Given the description of an element on the screen output the (x, y) to click on. 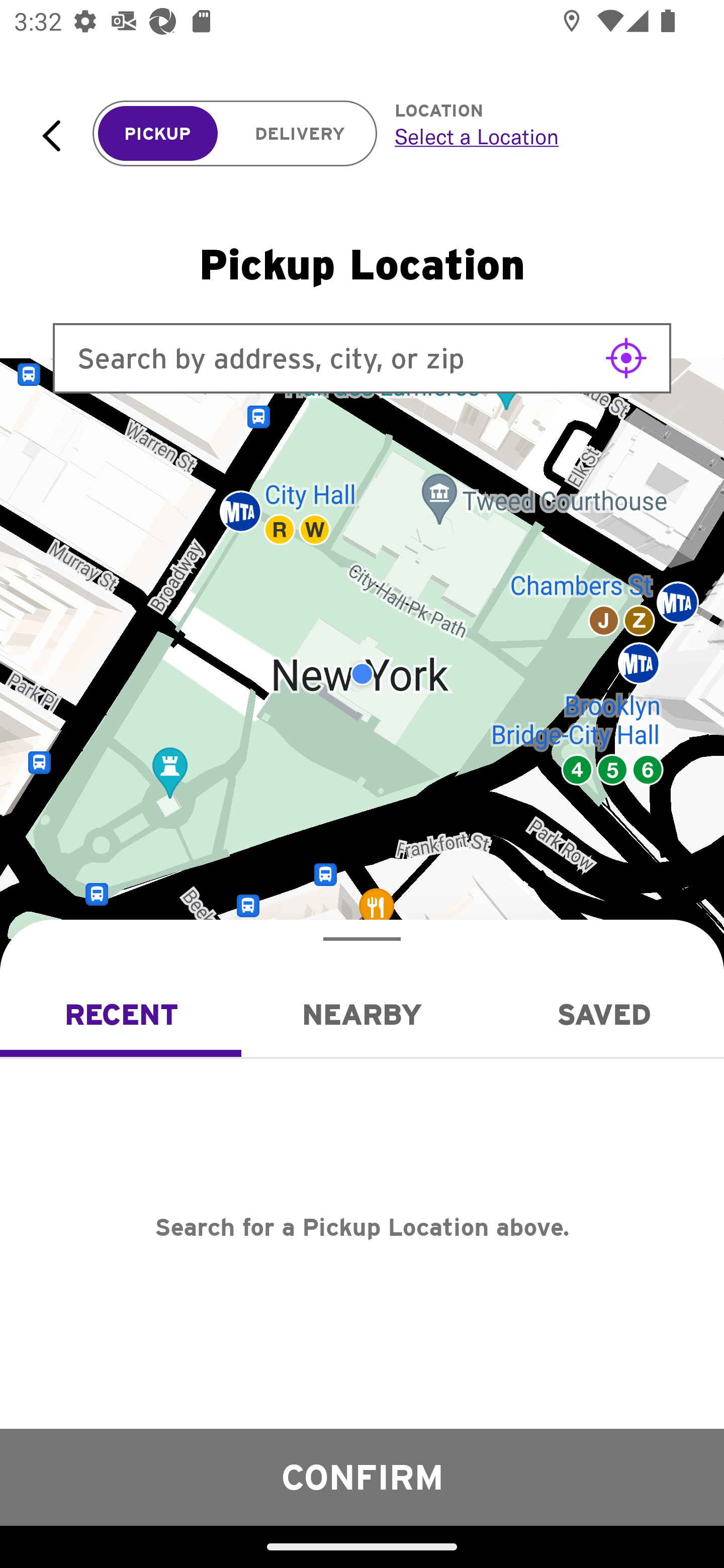
PICKUP (157, 133)
DELIVERY (299, 133)
Select a Location (536, 136)
Search by address, city, or zip (361, 358)
Google Map (362, 674)
Nearby NEARBY (361, 1014)
Saved SAVED (603, 1014)
CONFIRM (362, 1476)
